Given the description of an element on the screen output the (x, y) to click on. 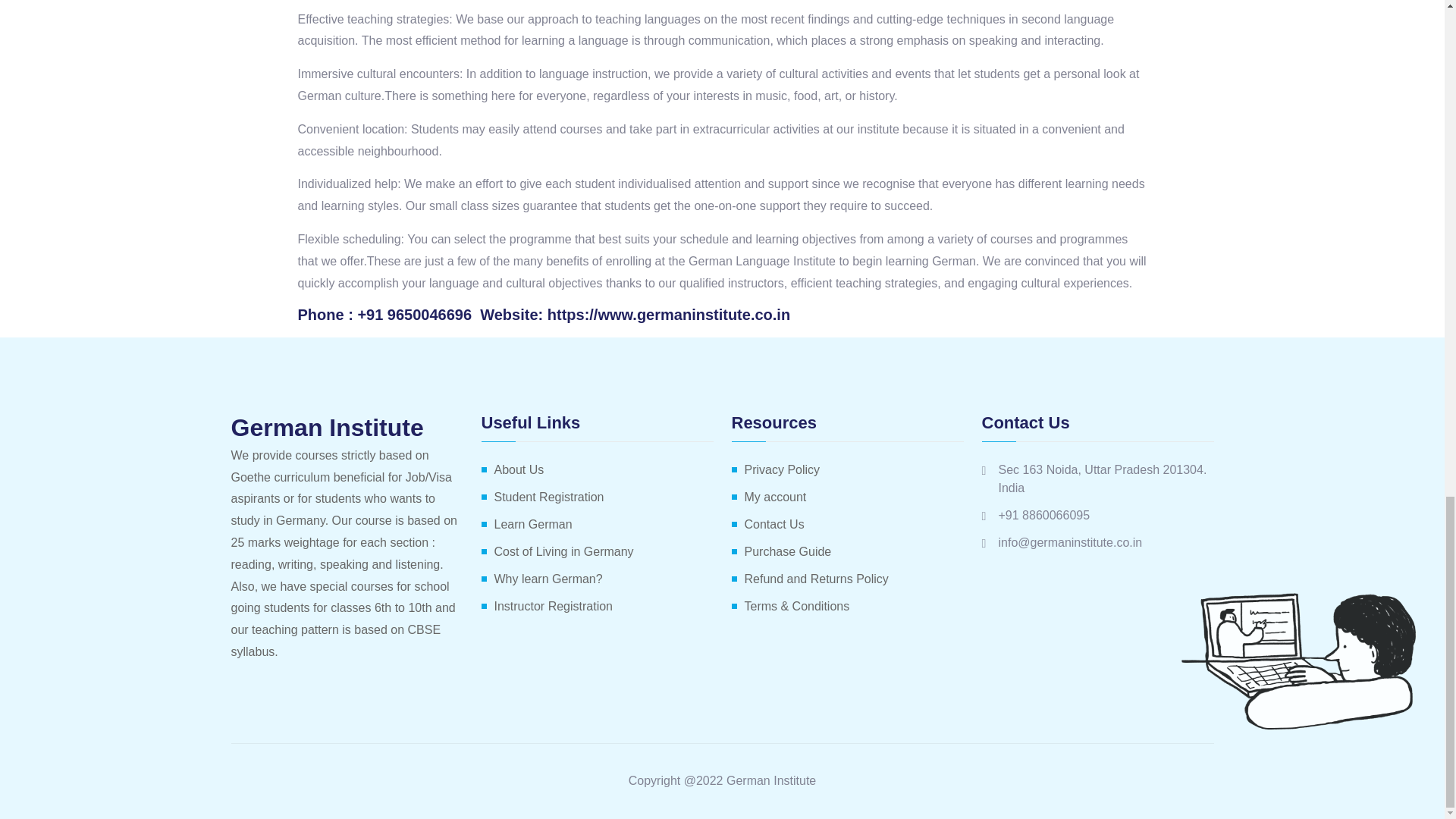
Why learn German? (548, 579)
German Institute (346, 427)
Contact Us (774, 524)
Cost of Living in Germany (564, 551)
Privacy Policy (782, 470)
My account (775, 497)
Purchase Guide (787, 551)
Refund and Returns Policy (816, 579)
Student Registration (549, 497)
Learn German (533, 524)
